Given the description of an element on the screen output the (x, y) to click on. 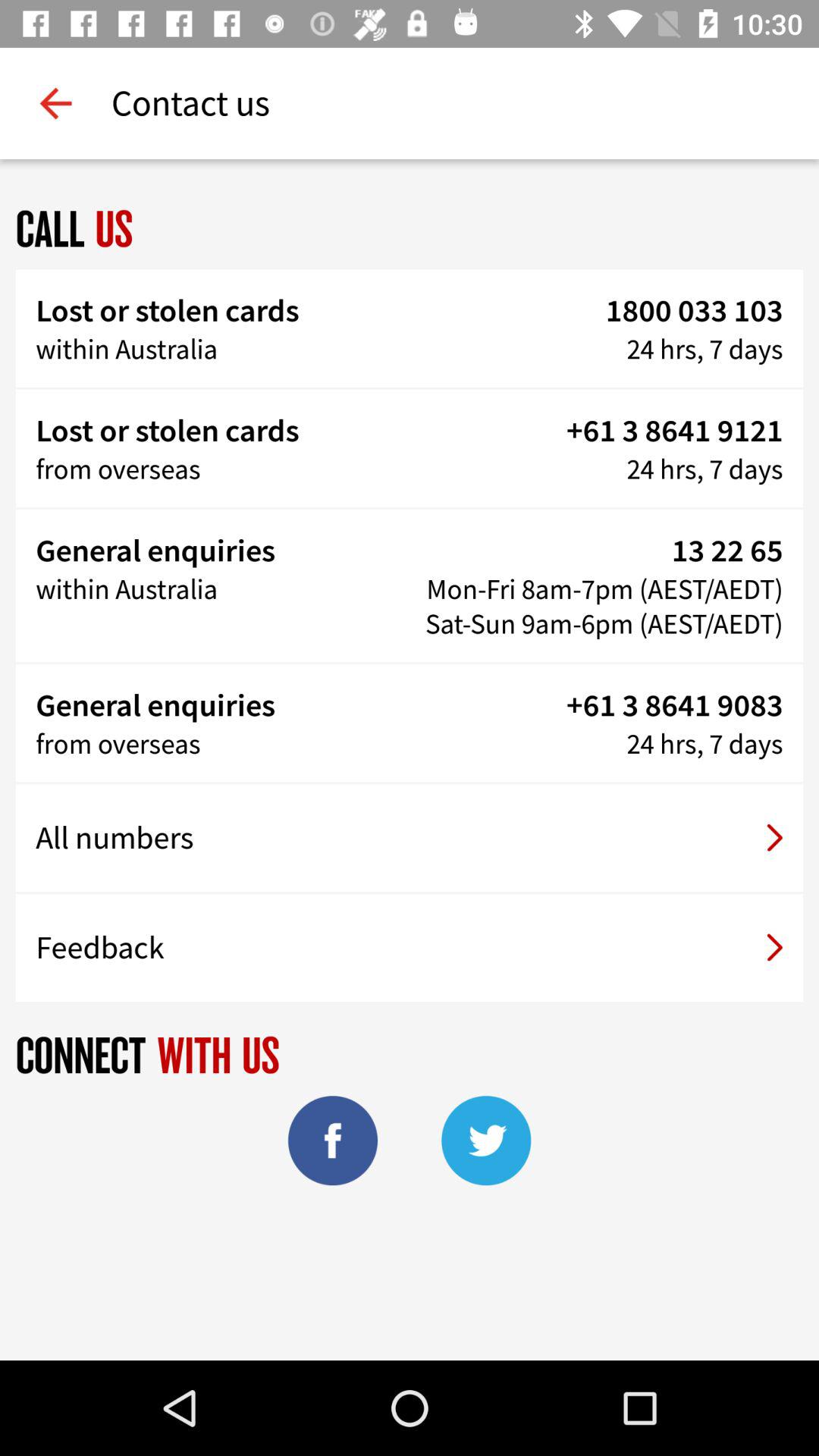
click icon to the left of the contact us icon (55, 103)
